Given the description of an element on the screen output the (x, y) to click on. 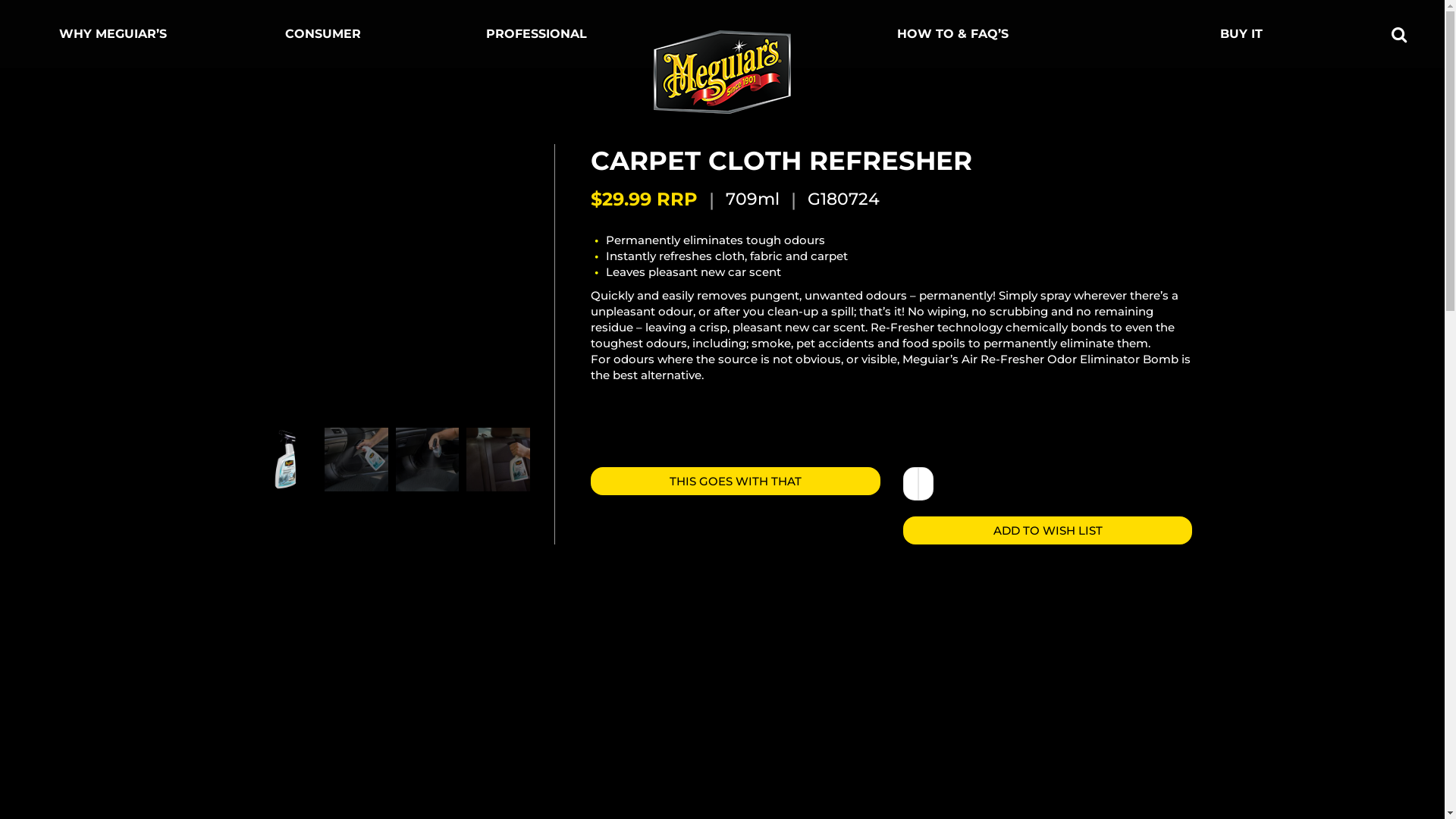
PROFESSIONAL Element type: text (540, 33)
Go! Element type: text (24, 16)
BUY IT Element type: text (1245, 33)
Re-fresher1 Element type: hover (668, 282)
CONSUMER Element type: text (326, 33)
THIS GOES WITH THAT Element type: text (735, 481)
Meguiar's Carpet and Cloth ReFresher - Features and Benefits Element type: hover (716, 667)
ADD TO WISH LIST Element type: text (1047, 530)
